Given the description of an element on the screen output the (x, y) to click on. 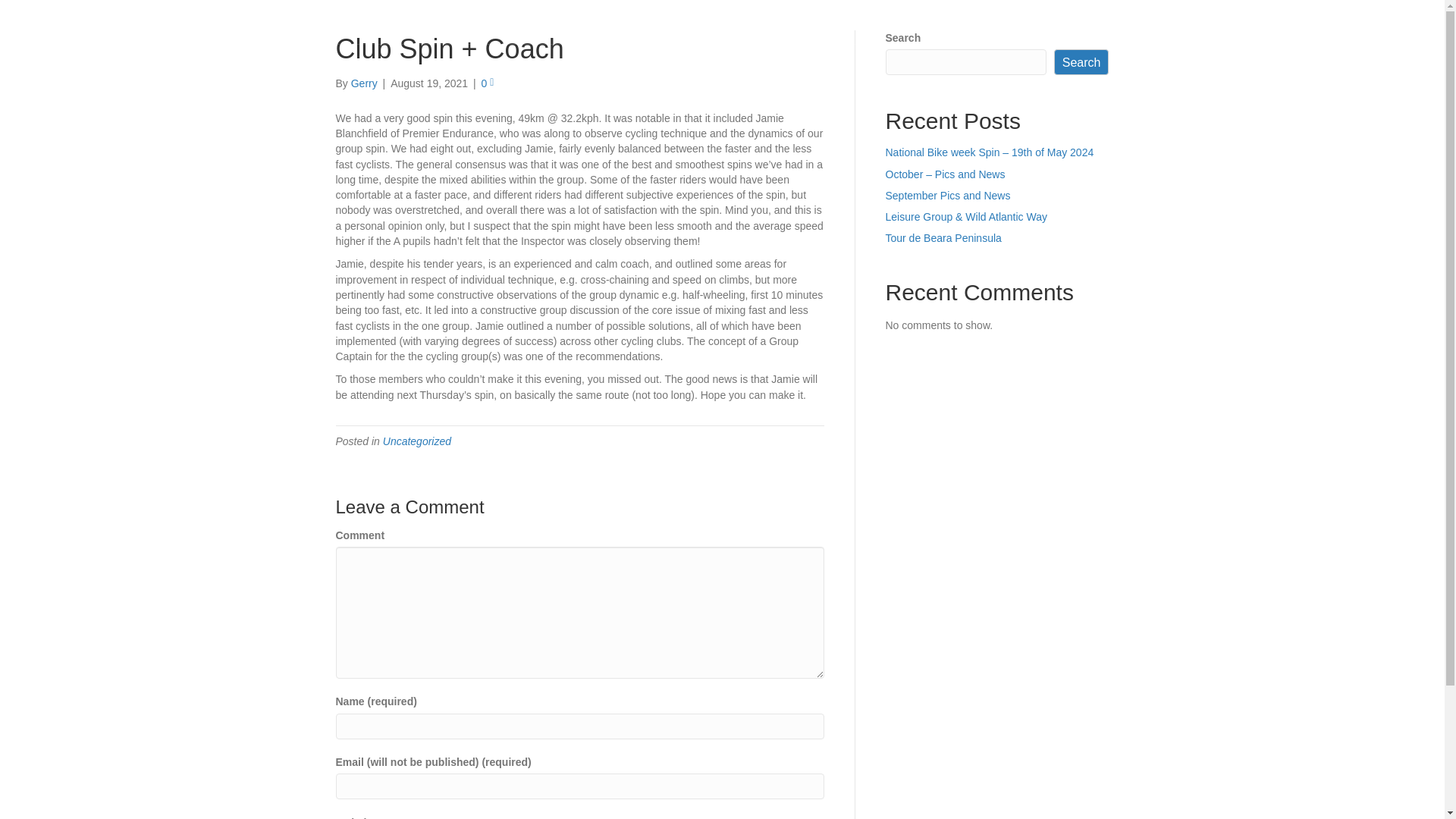
0 (488, 82)
September Pics and News (947, 195)
Uncategorized (416, 440)
Search (1081, 62)
Gerry (363, 82)
Tour de Beara Peninsula (943, 237)
North Tipp Wheelers (457, 24)
Contact Us (1051, 24)
Home (987, 24)
